Given the description of an element on the screen output the (x, y) to click on. 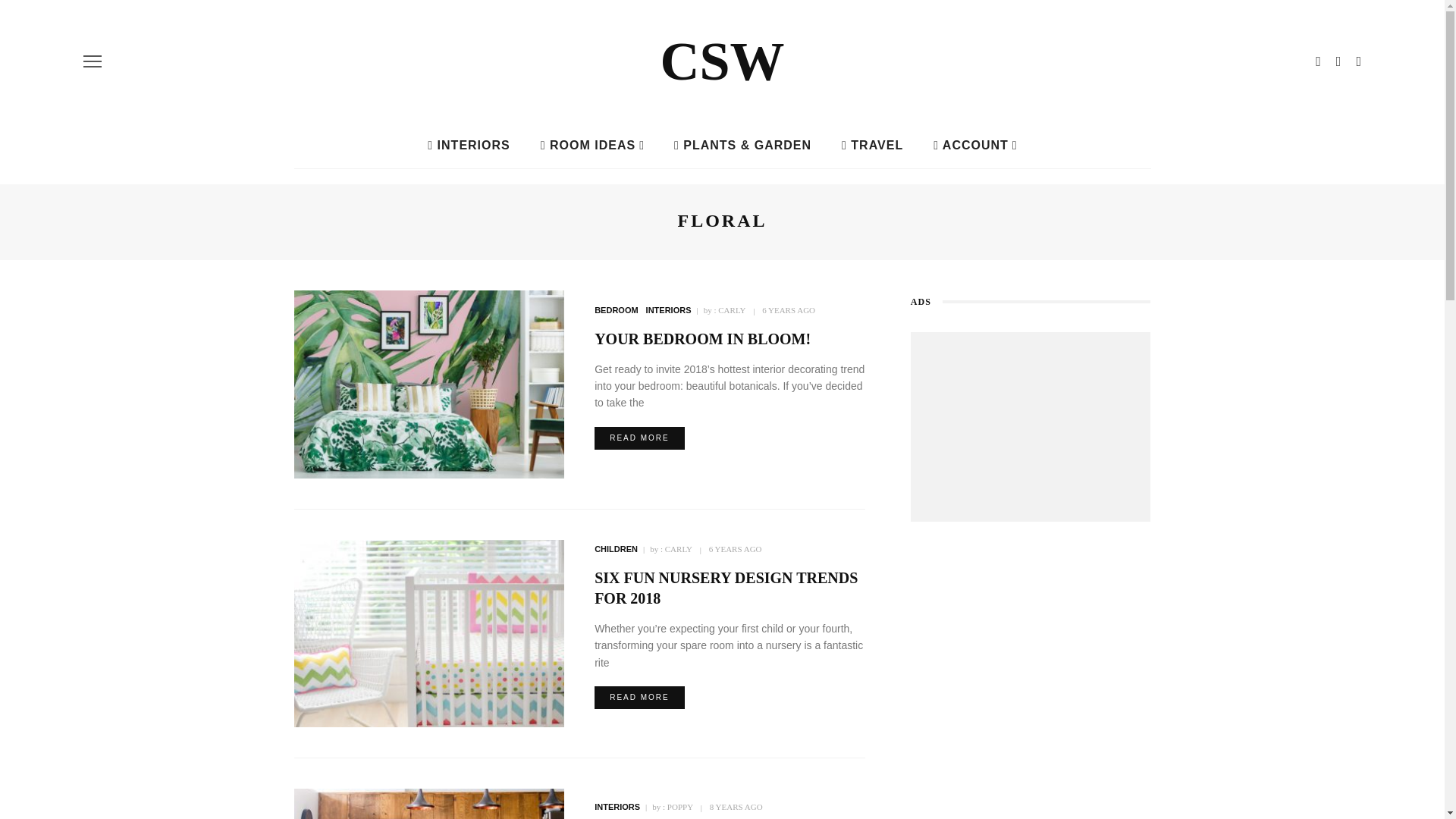
ROOM IDEAS (592, 145)
INTERIORS (468, 145)
off canvas button (91, 61)
CSW (721, 61)
